Given the description of an element on the screen output the (x, y) to click on. 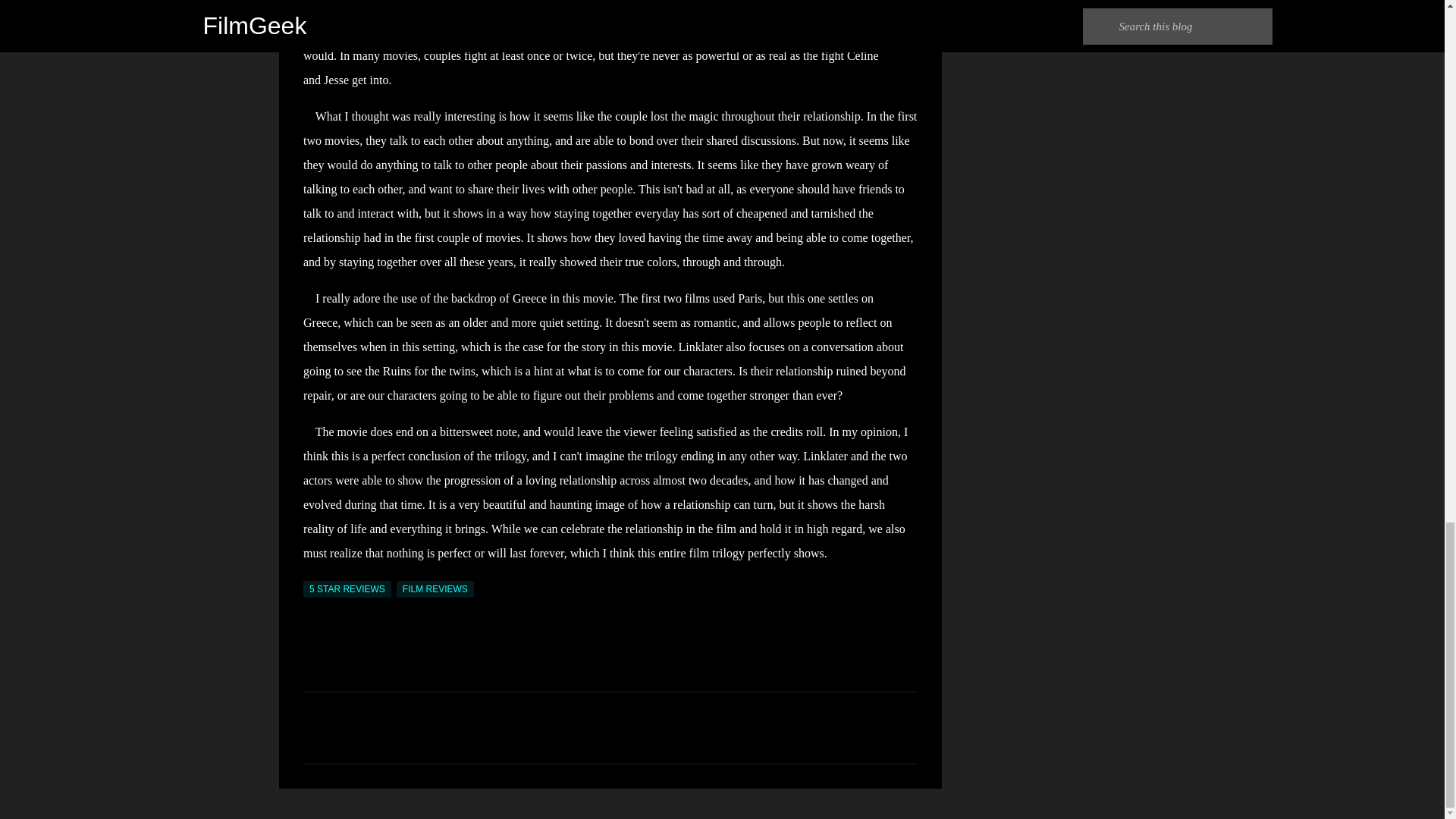
5 STAR REVIEWS (346, 588)
FILM REVIEWS (435, 588)
